Given the description of an element on the screen output the (x, y) to click on. 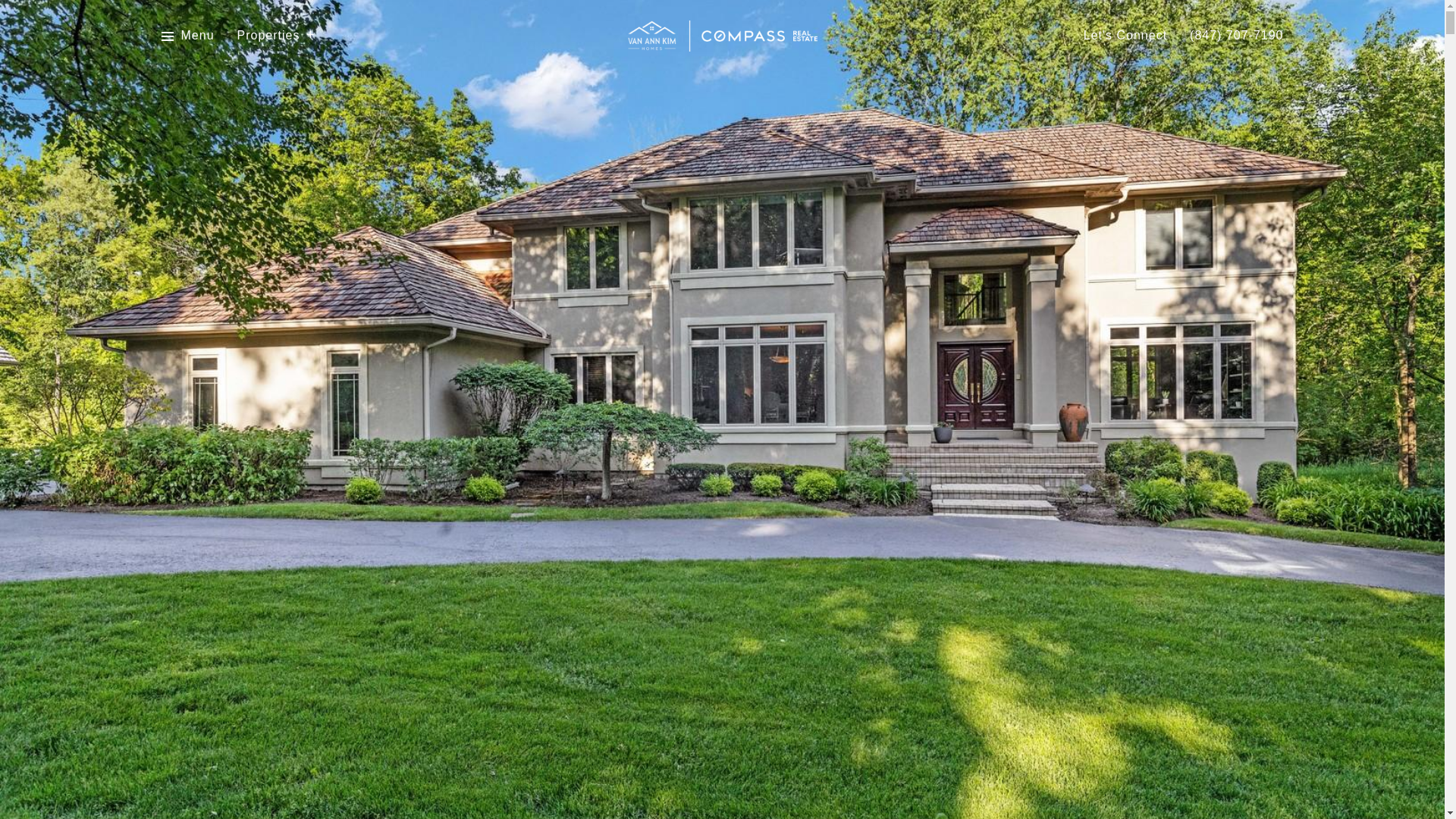
Menu (187, 35)
Let'S Connect (1125, 35)
Properties (276, 35)
Menu (197, 35)
